Given the description of an element on the screen output the (x, y) to click on. 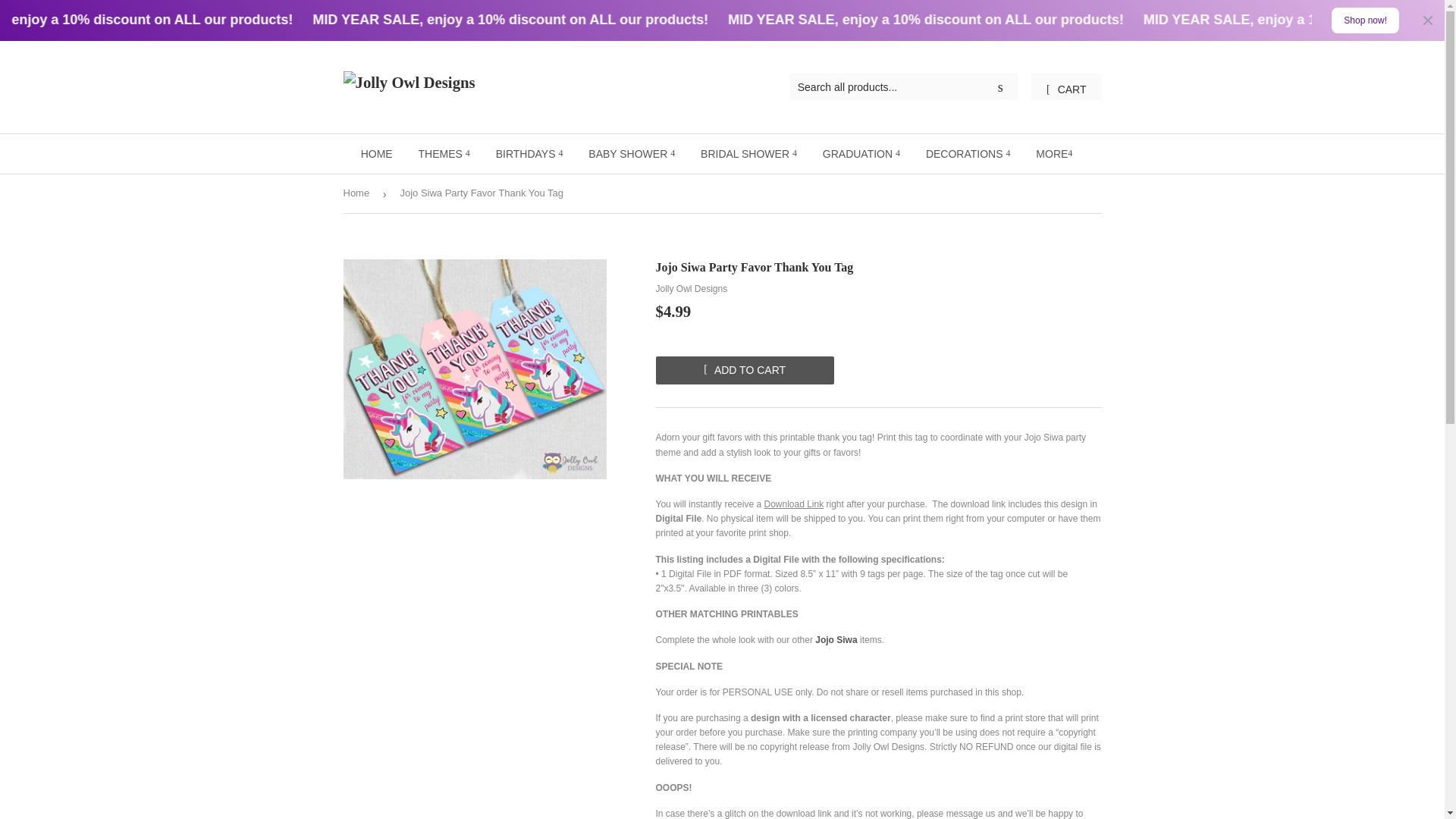
Shop now! (1365, 20)
CART (1065, 86)
Search (1000, 87)
